Given the description of an element on the screen output the (x, y) to click on. 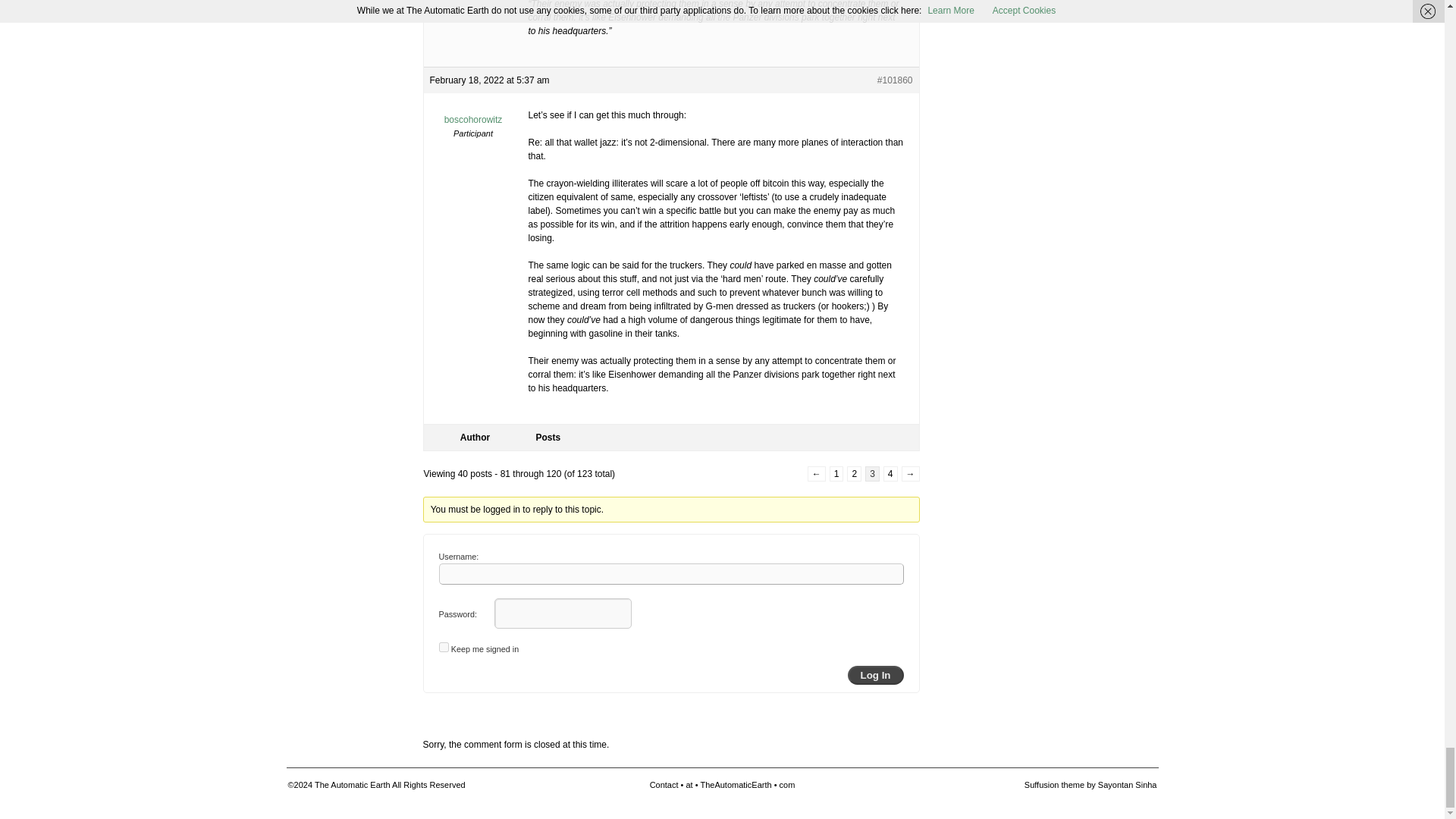
forever (443, 646)
